Given the description of an element on the screen output the (x, y) to click on. 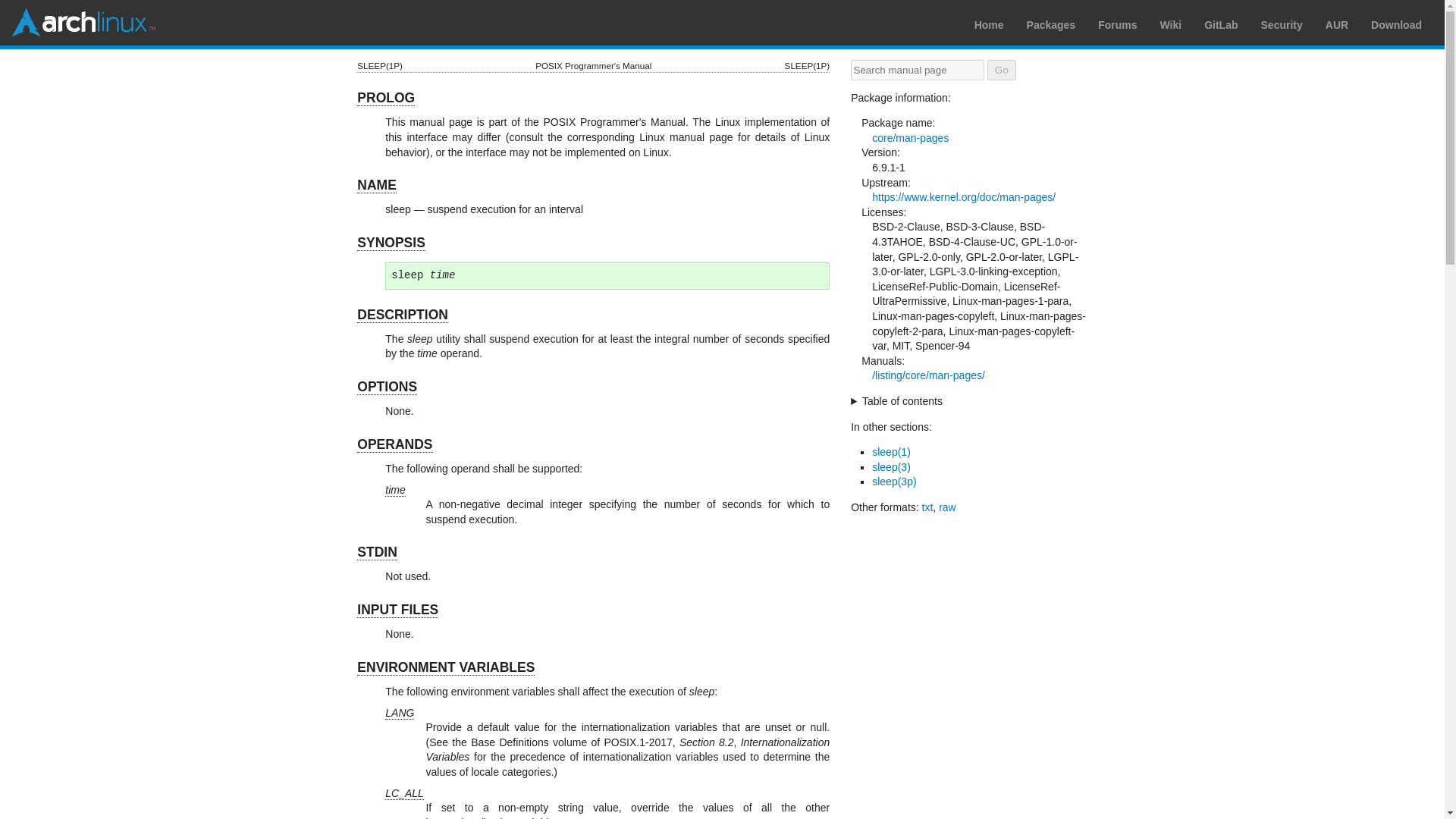
Arch Package Database (1050, 24)
Arch news, packages, projects and more (989, 24)
Arch Linux (83, 22)
Community documentation (1171, 24)
INPUT FILES (397, 609)
Forums (1117, 24)
GitLab (1220, 24)
OPERANDS (394, 444)
Go (1001, 69)
Download (1396, 24)
